Given the description of an element on the screen output the (x, y) to click on. 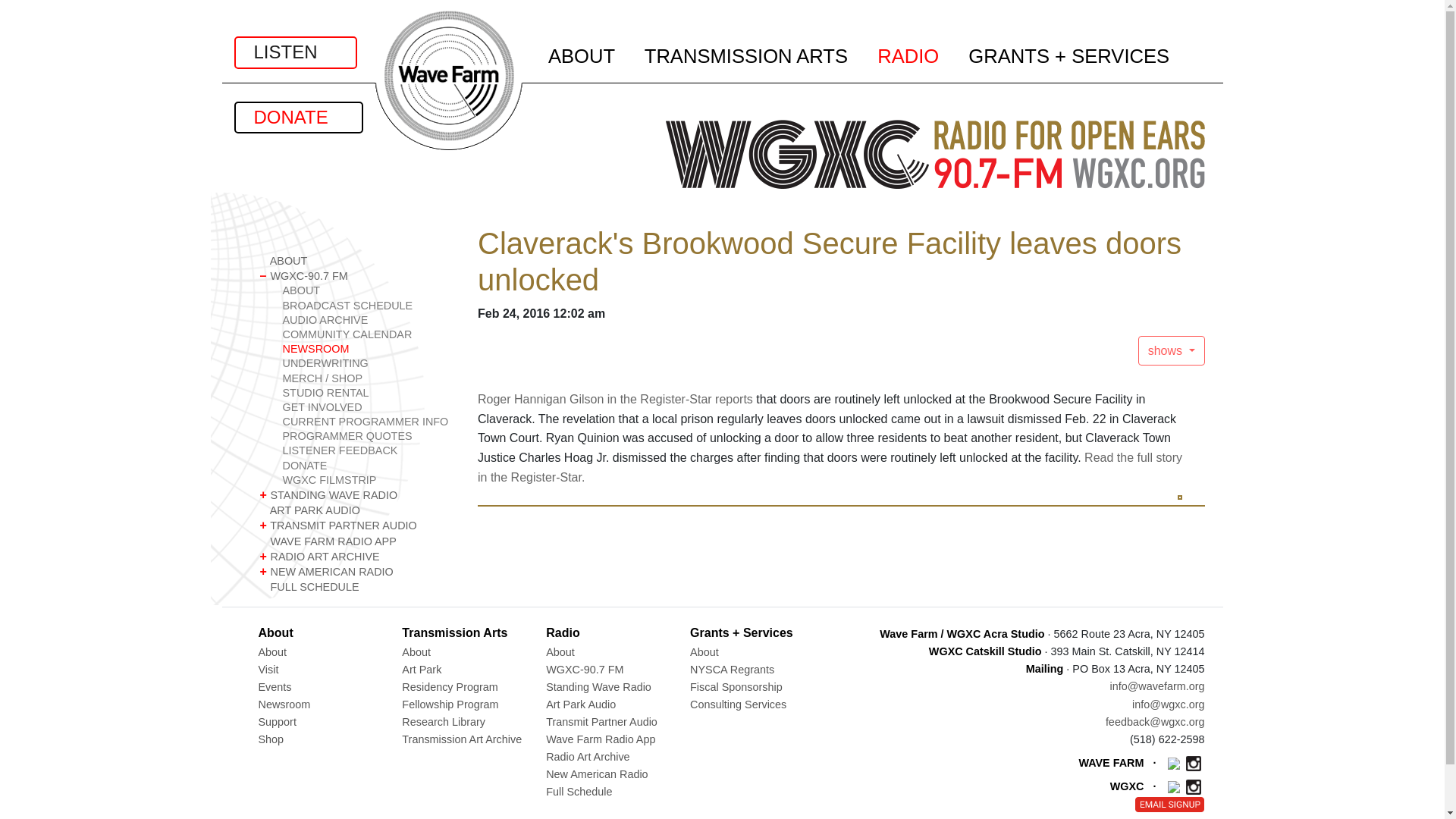
BROADCAST SCHEDULE (367, 305)
DONATE    (297, 117)
  ABOUT (355, 260)
ABOUT (367, 290)
LISTEN     (294, 51)
